Given the description of an element on the screen output the (x, y) to click on. 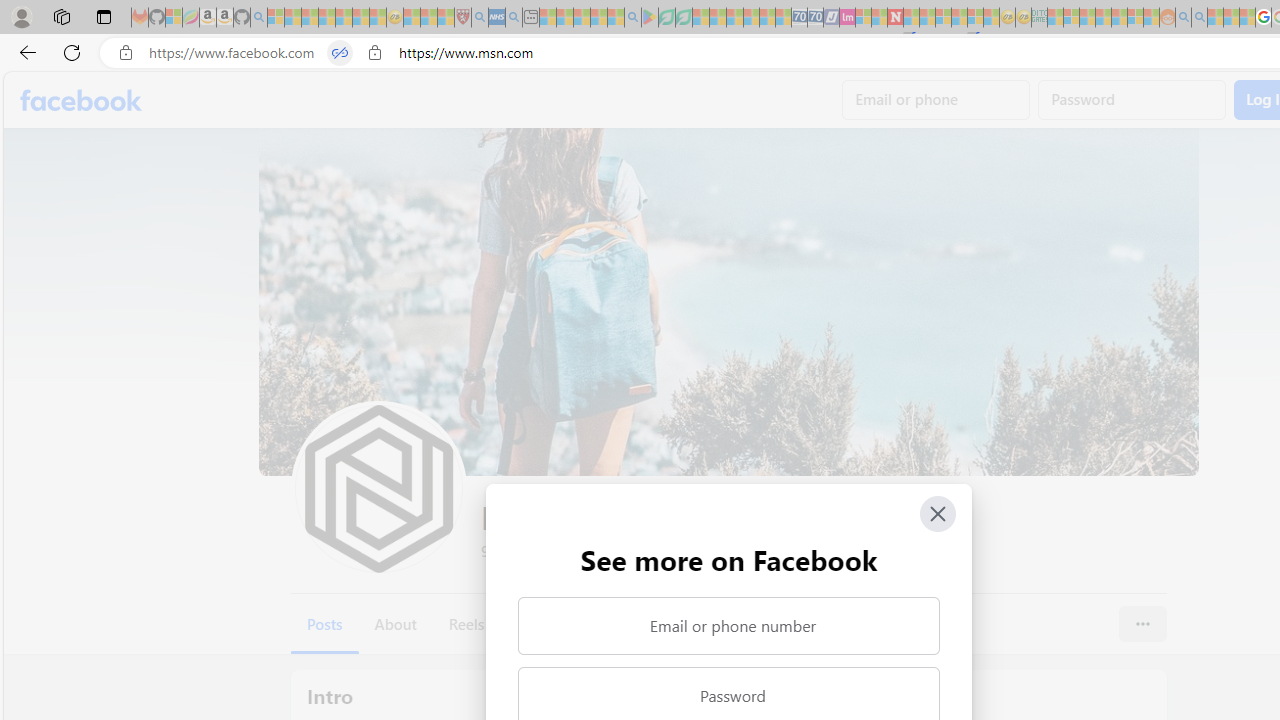
Trusted Community Engagement and Contributions | Guidelines (911, 17)
Microsoft-Report a Concern to Bing - Sleeping (173, 17)
Local - MSN - Sleeping (445, 17)
Personal Profile (21, 16)
Pets - MSN - Sleeping (598, 17)
Robert H. Shmerling, MD - Harvard Health - Sleeping (462, 17)
Refresh (72, 52)
Microsoft account | Privacy - Sleeping (1071, 17)
Password (1132, 99)
The Weather Channel - MSN - Sleeping (309, 17)
DITOGAMES AG Imprint - Sleeping (1039, 17)
